Given the description of an element on the screen output the (x, y) to click on. 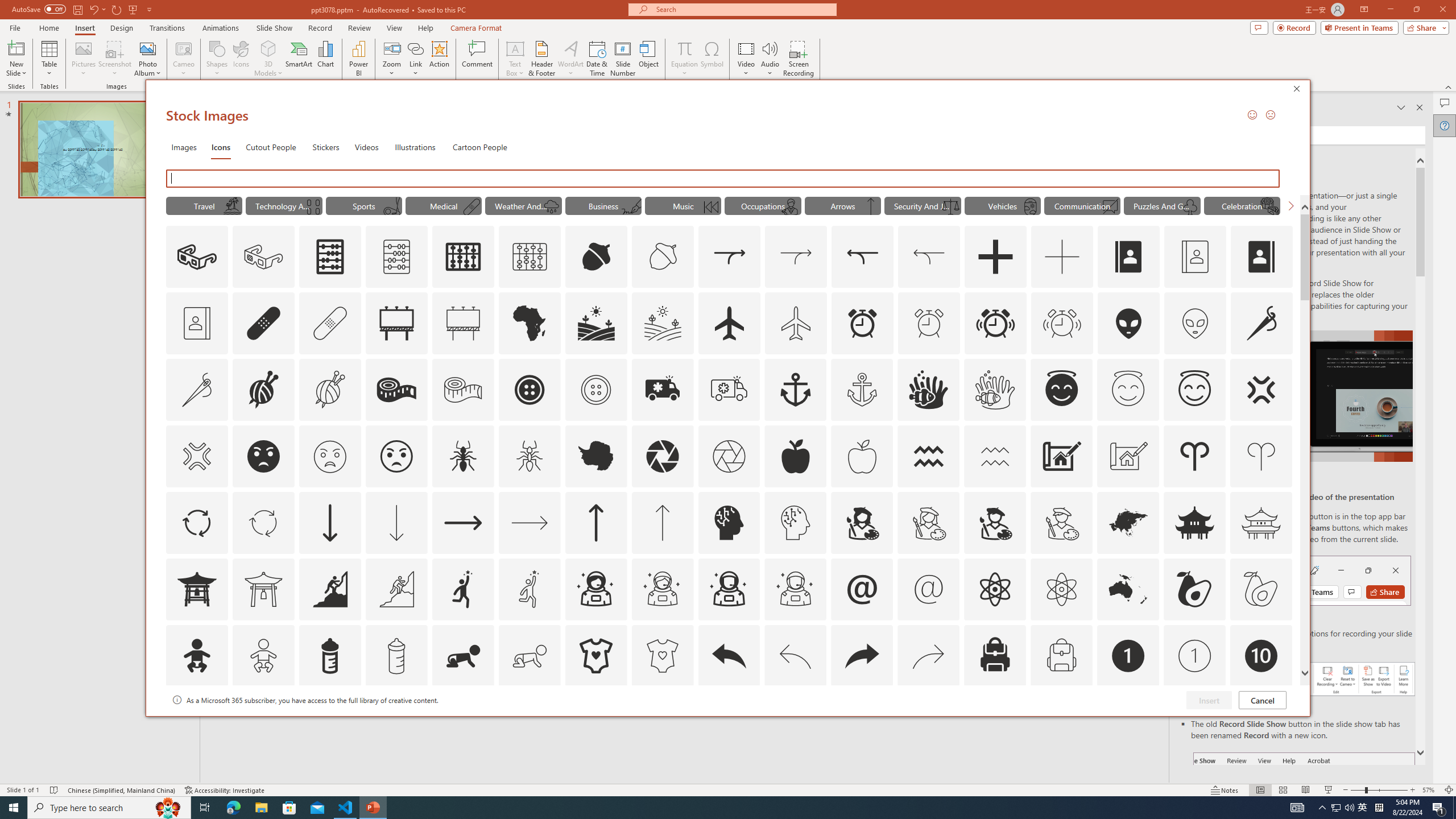
AutomationID: Icons_Antarctica (595, 455)
AutomationID: Icons_3dGlasses (197, 256)
AutomationID: Icons_Badge8_M (1128, 721)
AutomationID: Icons_Atom_M (1061, 588)
AutomationID: Icons_ScalesofJustice_M (950, 206)
AutomationID: Icons_BabyBottle_M (395, 655)
AutomationID: Icons_AstronautMale_M (795, 588)
